Given the description of an element on the screen output the (x, y) to click on. 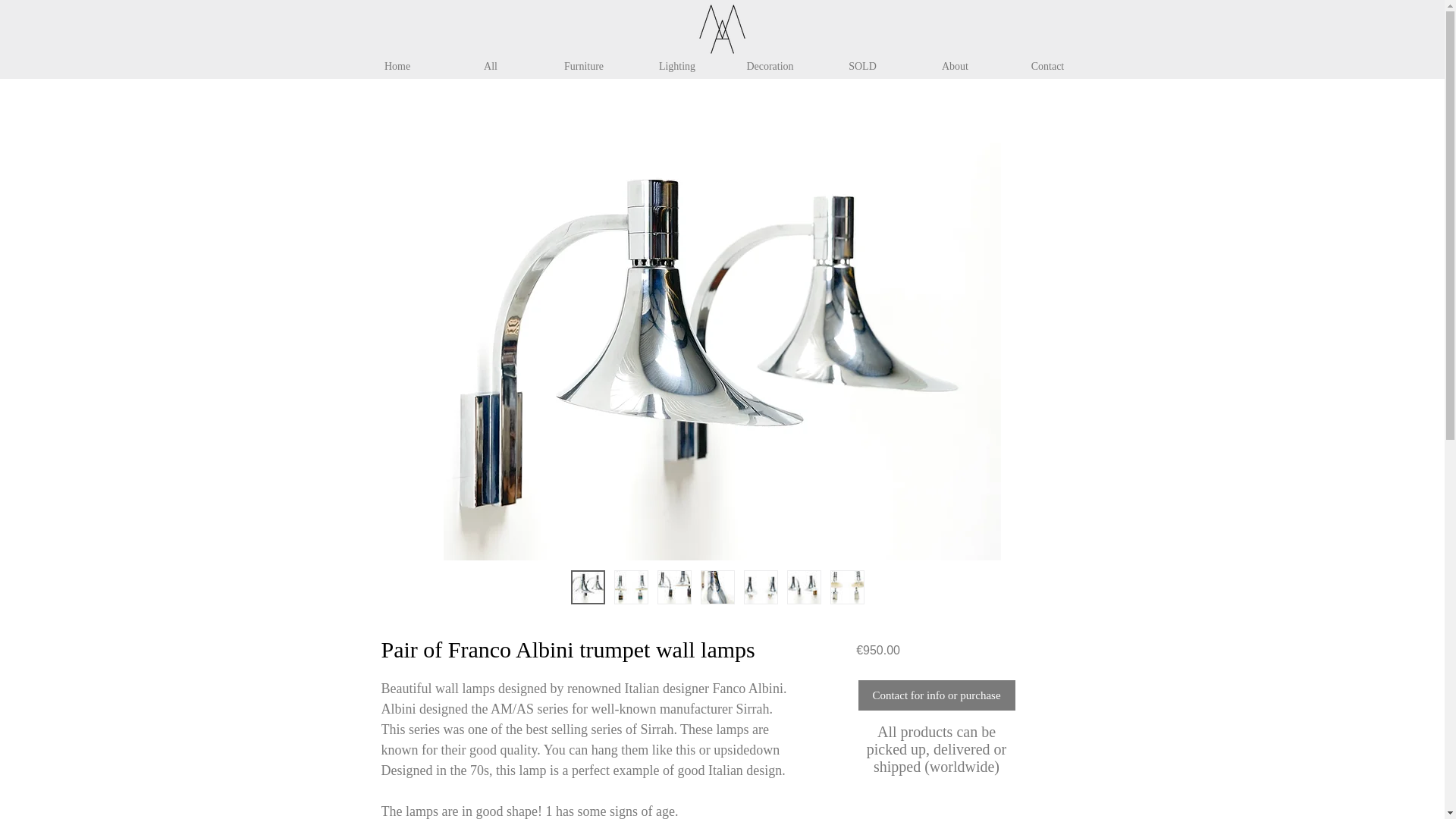
Contact for info or purchase (936, 695)
Furniture (583, 66)
All (490, 66)
Home (397, 66)
Contact (1047, 66)
Lighting (676, 66)
Decoration (769, 66)
SOLD (861, 66)
About (954, 66)
